Given the description of an element on the screen output the (x, y) to click on. 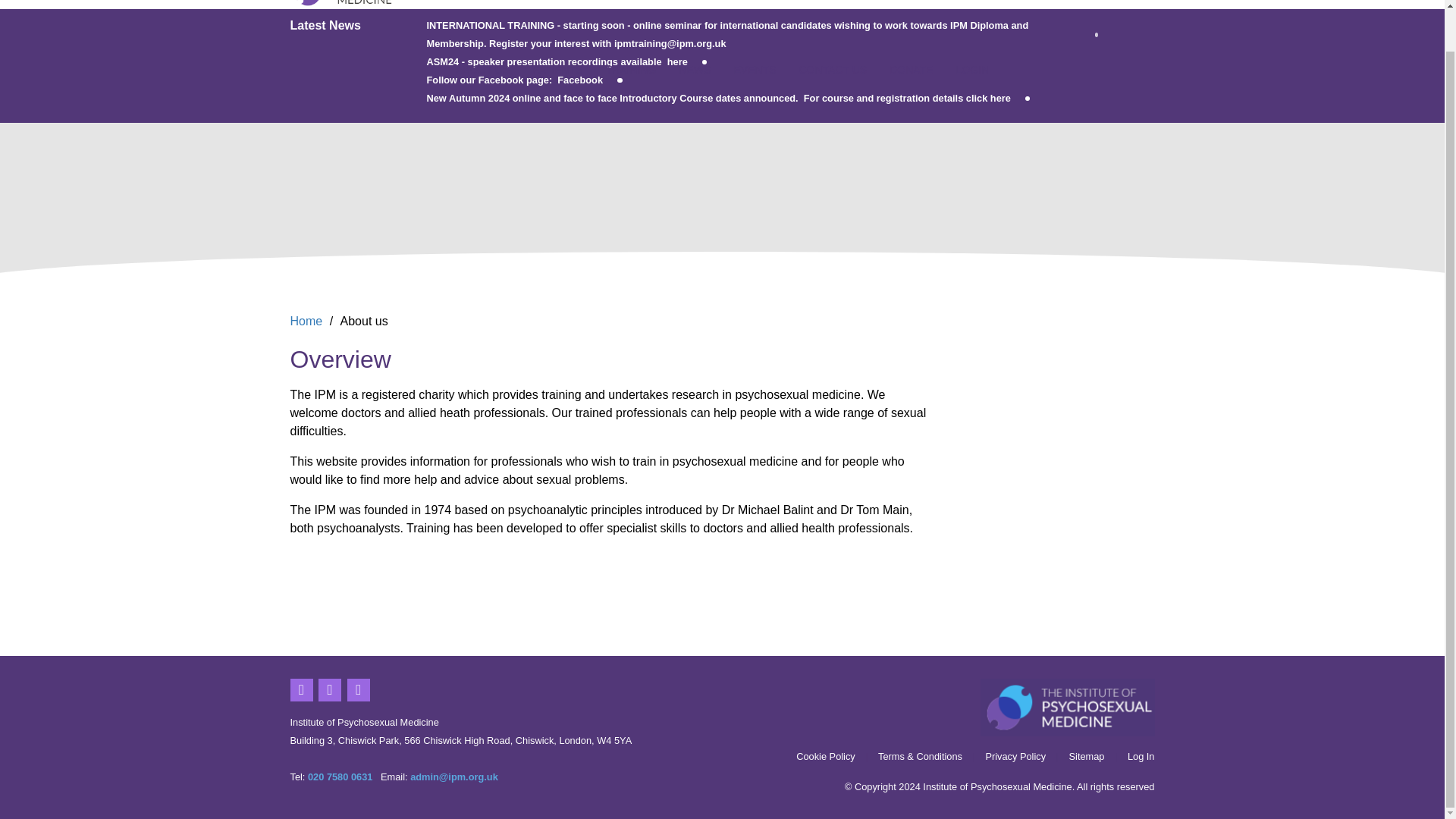
NEWS (694, 73)
TRAINING (631, 73)
CONTACT US (832, 73)
ABOUT US (482, 73)
PATIENTS (557, 73)
EVENTS (754, 73)
